Given the description of an element on the screen output the (x, y) to click on. 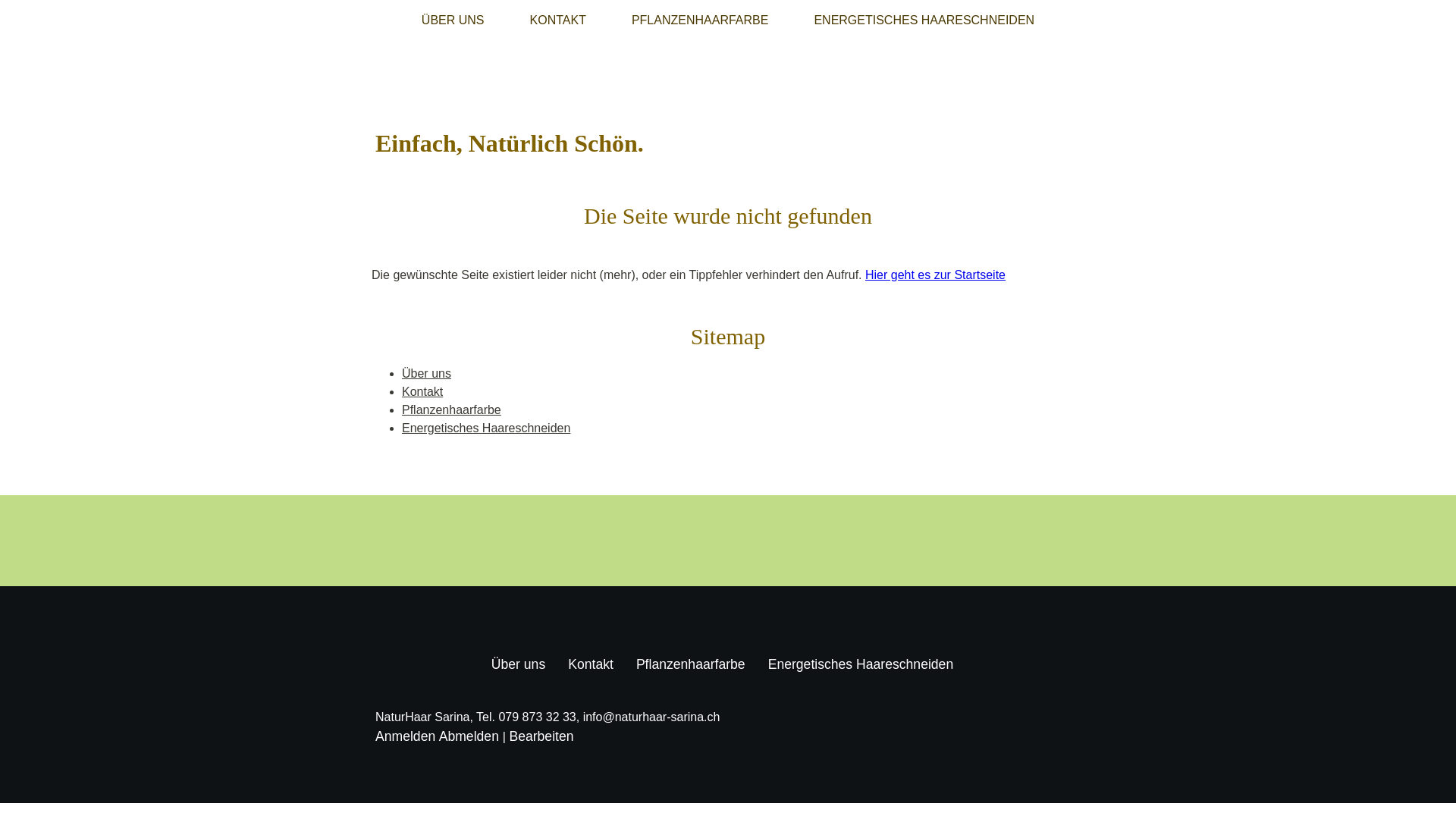
KONTAKT Element type: text (557, 20)
Kontakt Element type: text (421, 391)
Energetisches Haareschneiden Element type: text (860, 664)
Kontakt Element type: text (590, 664)
PFLANZENHAARFARBE Element type: text (699, 20)
ENERGETISCHES HAARESCHNEIDEN Element type: text (923, 20)
Hier geht es zur Startseite Element type: text (935, 274)
Pflanzenhaarfarbe Element type: text (451, 409)
Bearbeiten Element type: text (540, 735)
Anmelden Element type: text (405, 735)
Abmelden Element type: text (470, 735)
Energetisches Haareschneiden Element type: text (485, 427)
Pflanzenhaarfarbe Element type: text (690, 664)
